Given the description of an element on the screen output the (x, y) to click on. 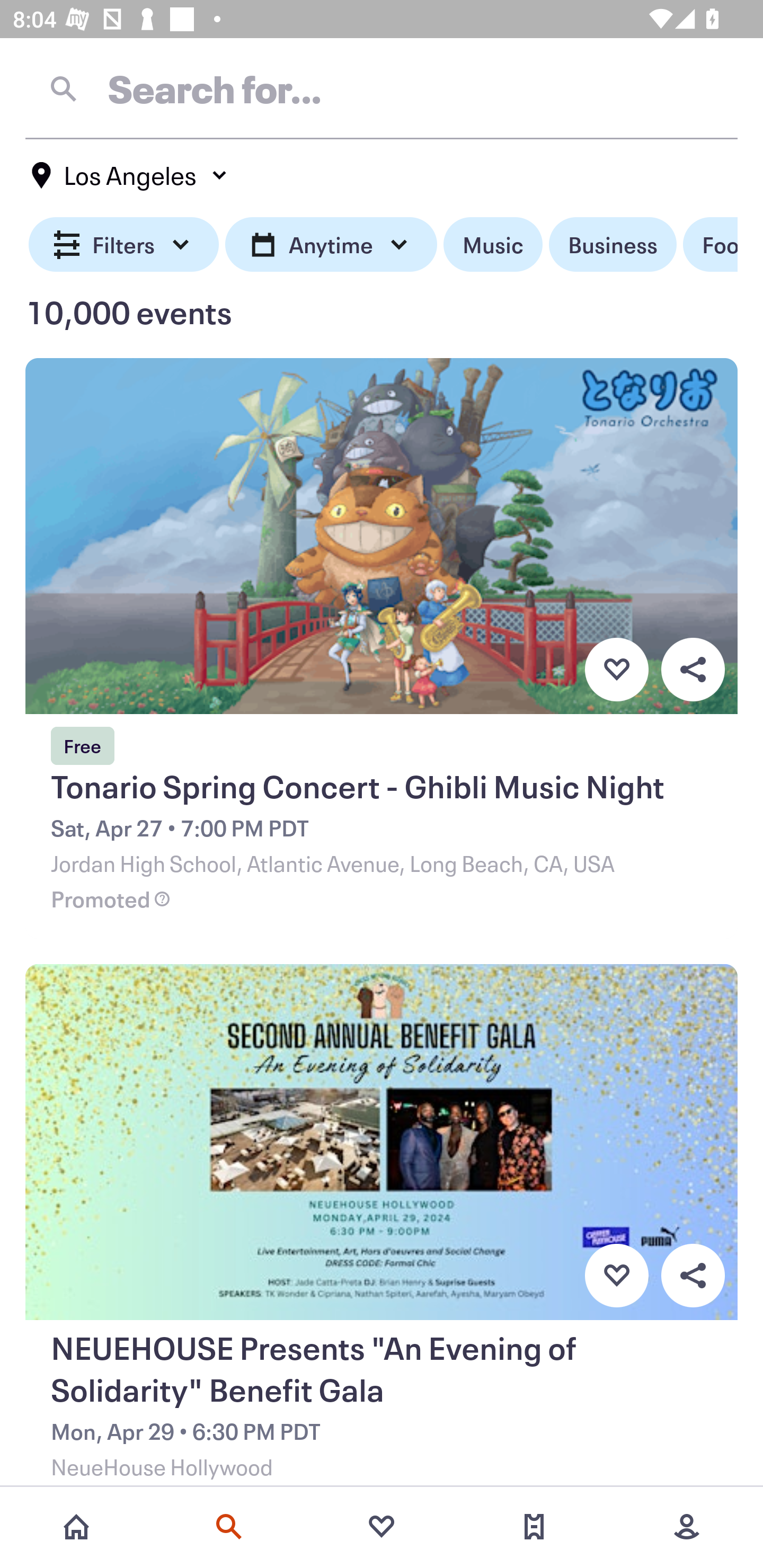
Search for… (381, 88)
Los Angeles (130, 175)
Filters (123, 244)
Anytime (331, 244)
Music (492, 244)
Business (612, 244)
Favorite button (616, 669)
Overflow menu button (692, 669)
Favorite button (616, 1275)
Overflow menu button (692, 1275)
Home (76, 1526)
Search events (228, 1526)
Favorites (381, 1526)
Tickets (533, 1526)
More (686, 1526)
